Given the description of an element on the screen output the (x, y) to click on. 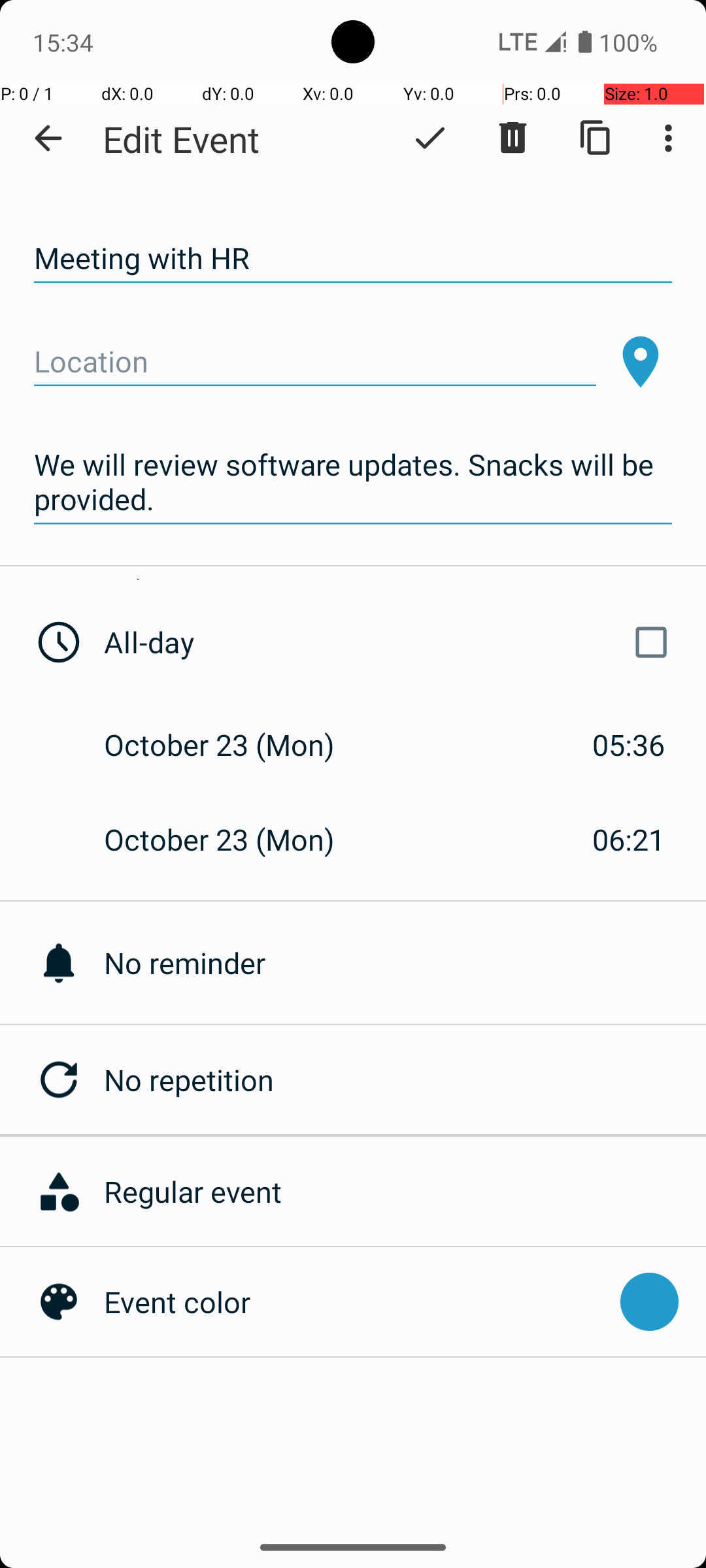
We will review software updates. Snacks will be provided. Element type: android.widget.EditText (352, 482)
October 23 (Mon) Element type: android.widget.TextView (232, 744)
05:36 Element type: android.widget.TextView (628, 744)
06:21 Element type: android.widget.TextView (628, 838)
